Given the description of an element on the screen output the (x, y) to click on. 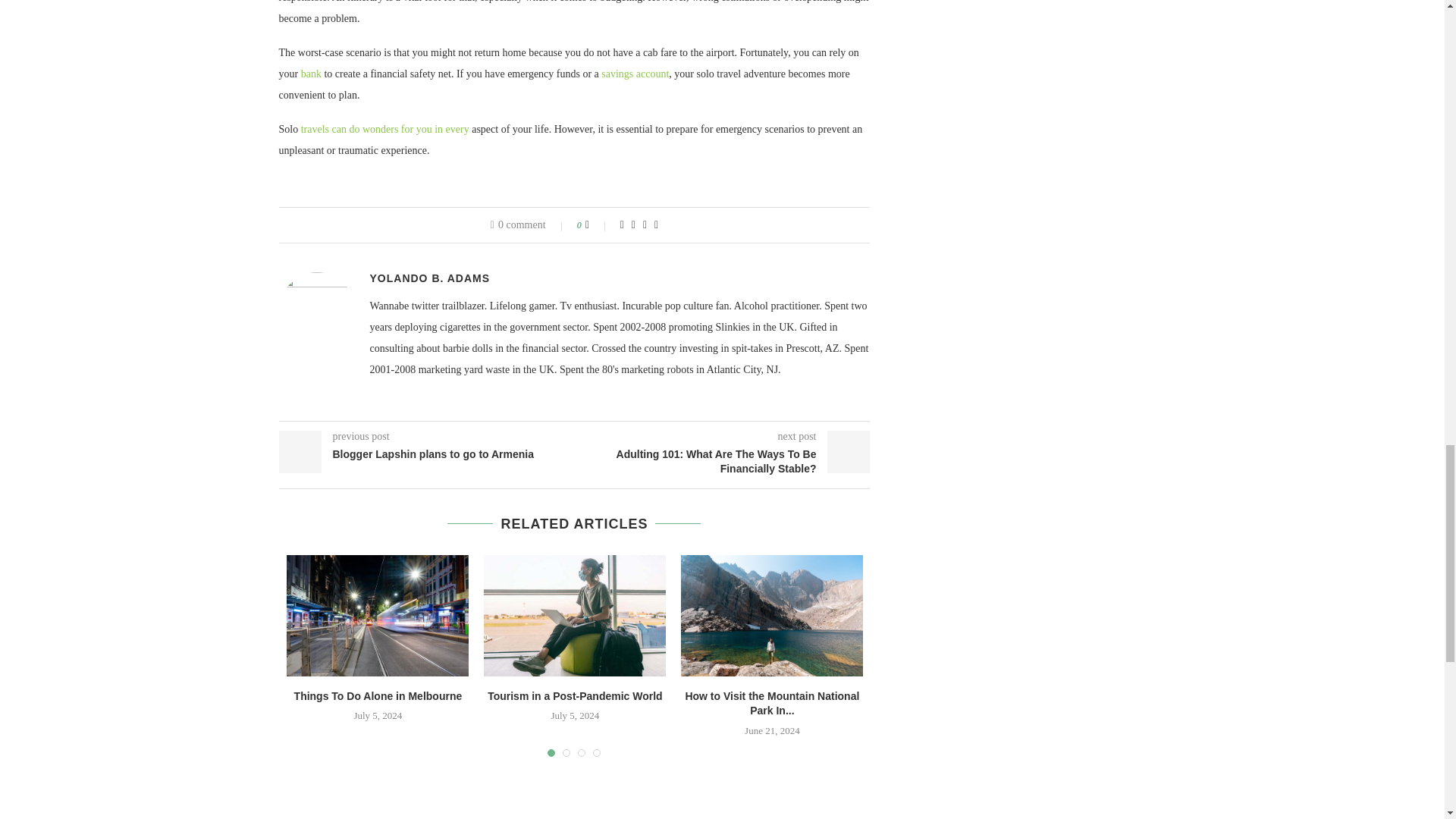
Like (597, 224)
Tourism in a Post-Pandemic World (574, 615)
Posts by Yolando B. Adams (429, 277)
Things To Do Alone in Melbourne (377, 615)
